Given the description of an element on the screen output the (x, y) to click on. 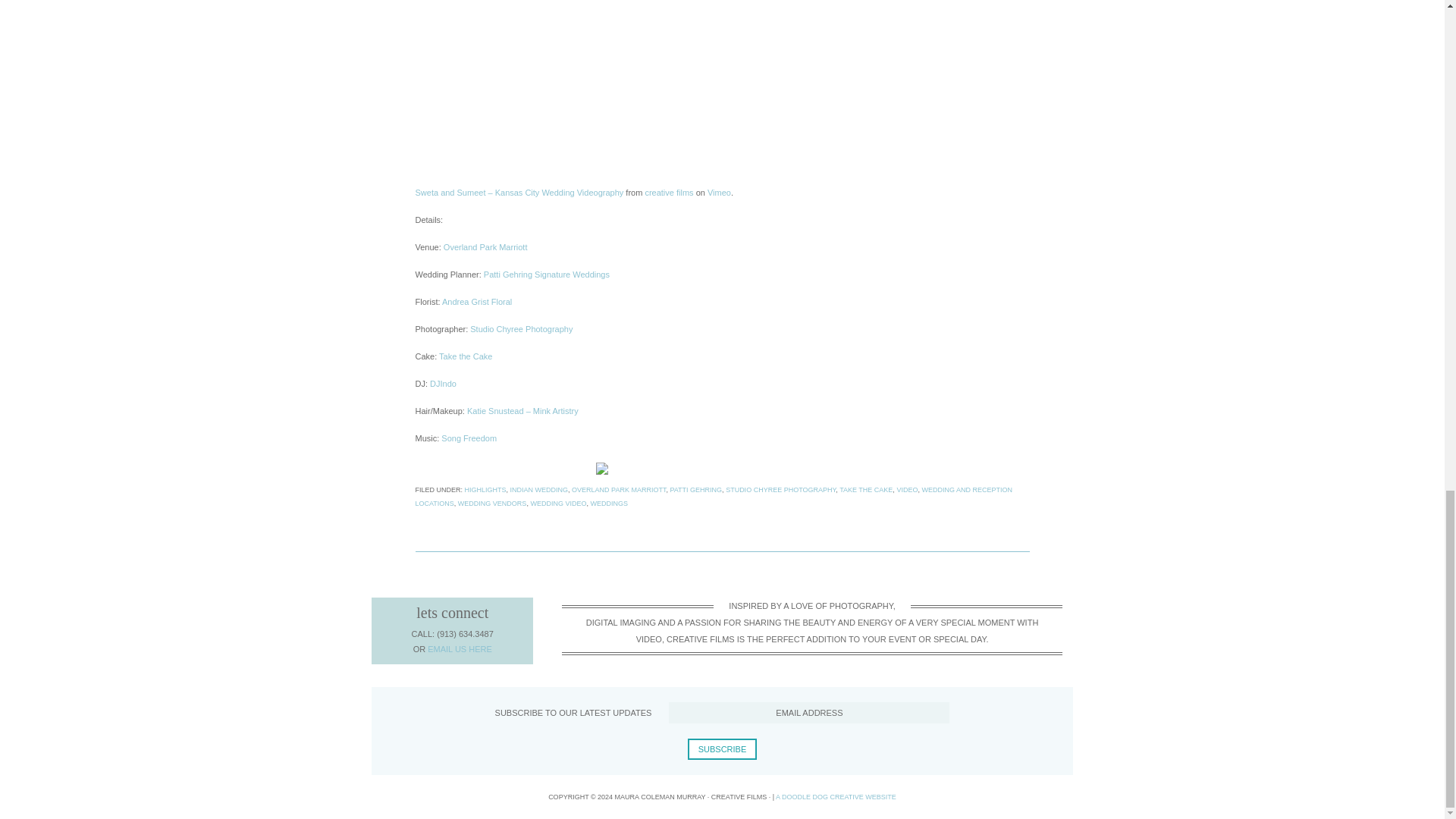
Patti Gehring Signature Weddings (546, 274)
creative films (669, 192)
Vimeo (718, 192)
Overland Park Marriott (485, 246)
DJIndo (443, 383)
Subscribe (722, 749)
Doodle Dog Creative (836, 796)
Take the Cake (465, 356)
Andrea Grist Floral (477, 301)
Studio Chyree Photography (521, 328)
